Given the description of an element on the screen output the (x, y) to click on. 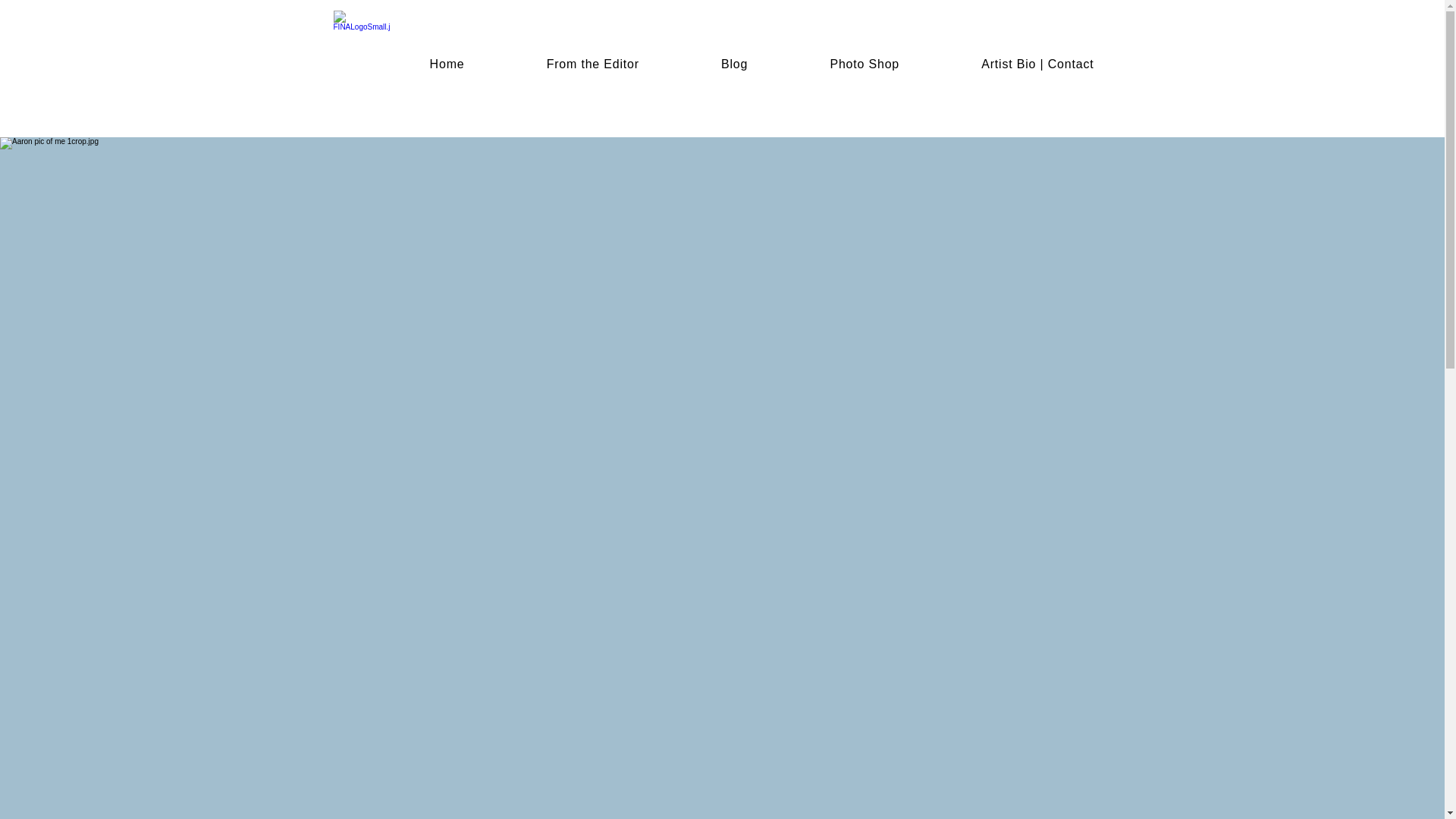
Photo Shop (864, 63)
From the Editor (592, 63)
Home (446, 63)
Blog (734, 63)
